Given the description of an element on the screen output the (x, y) to click on. 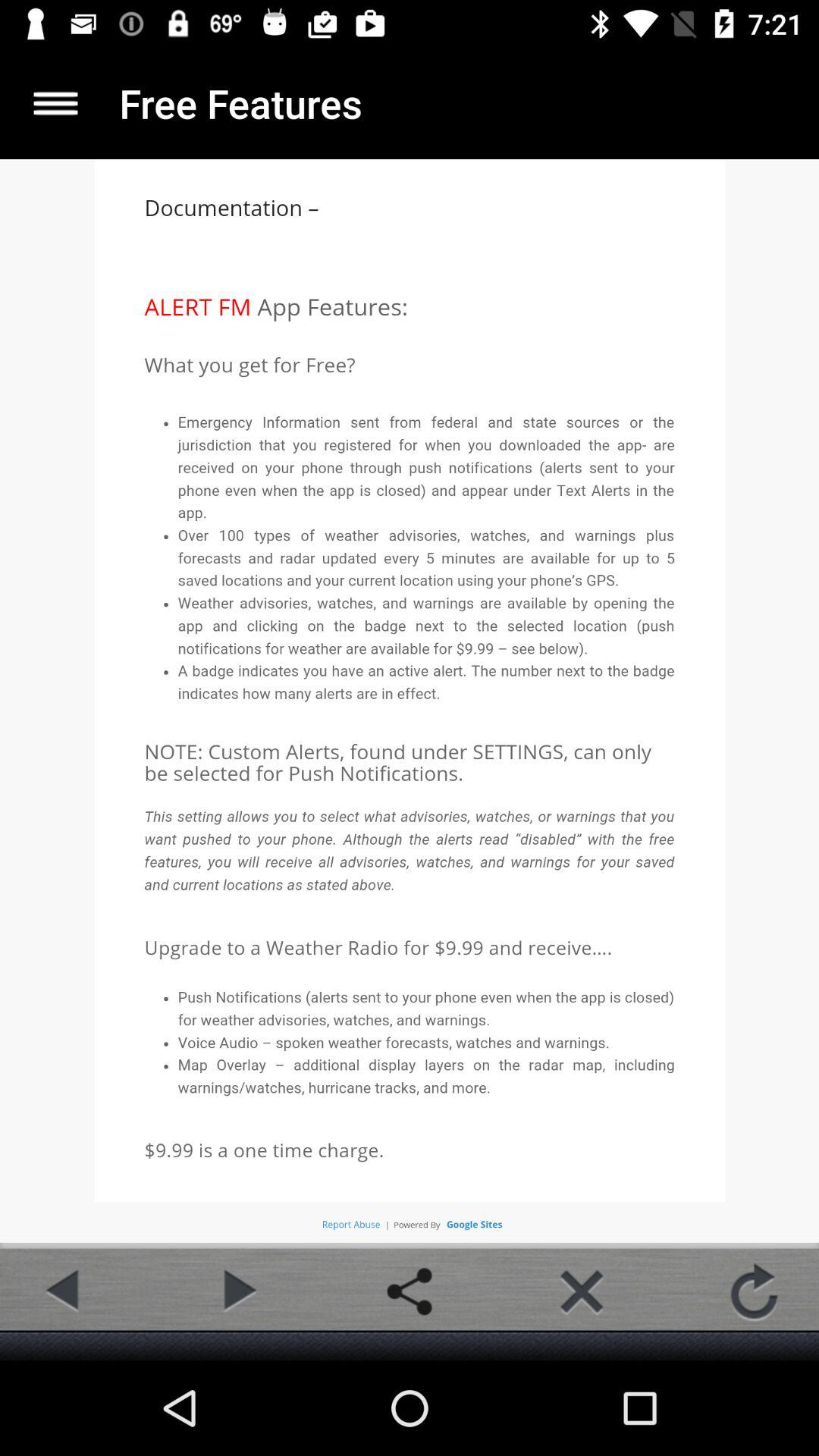
setting button (409, 1291)
